Given the description of an element on the screen output the (x, y) to click on. 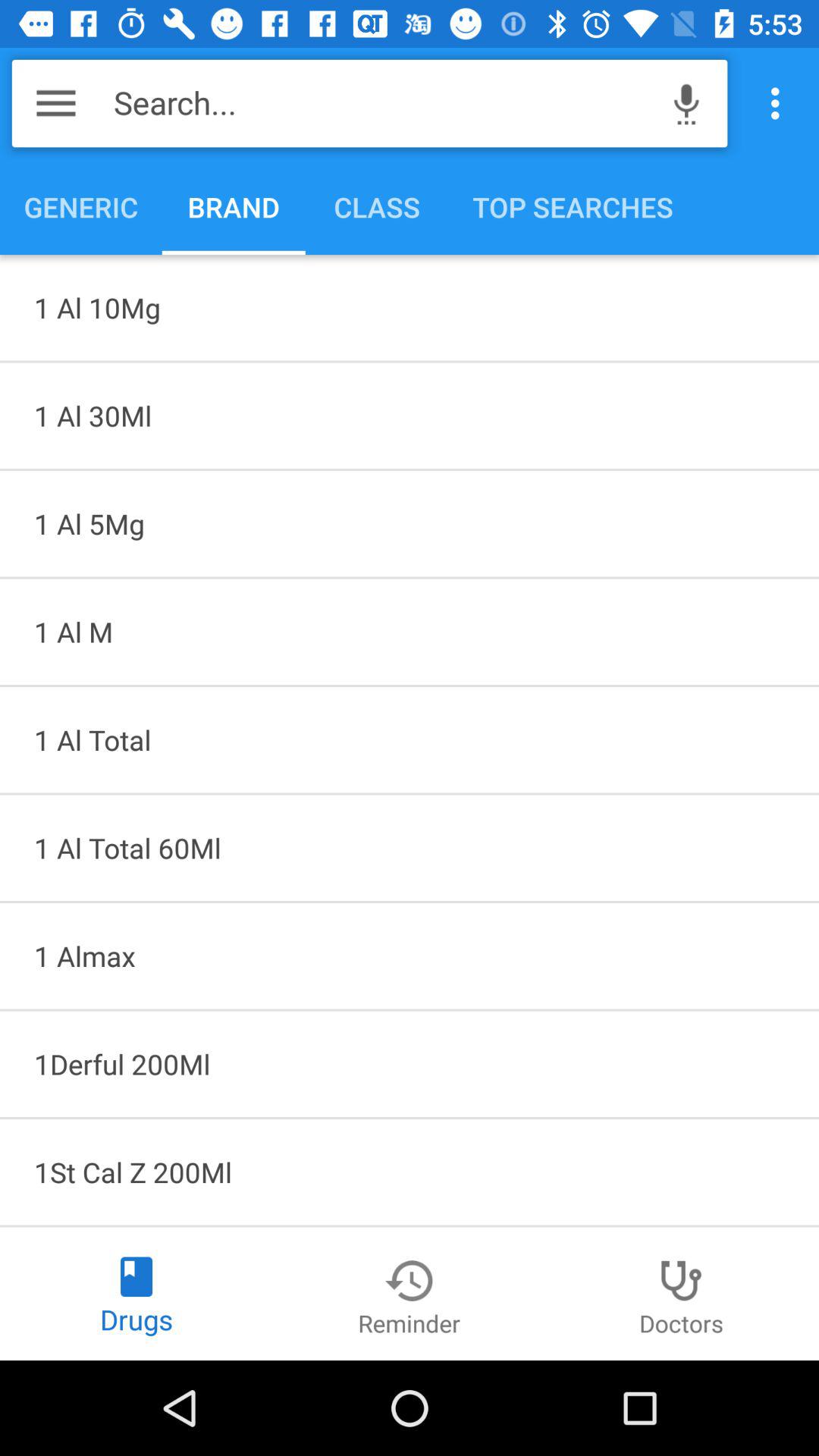
open the icon to the right of search... (686, 103)
